Given the description of an element on the screen output the (x, y) to click on. 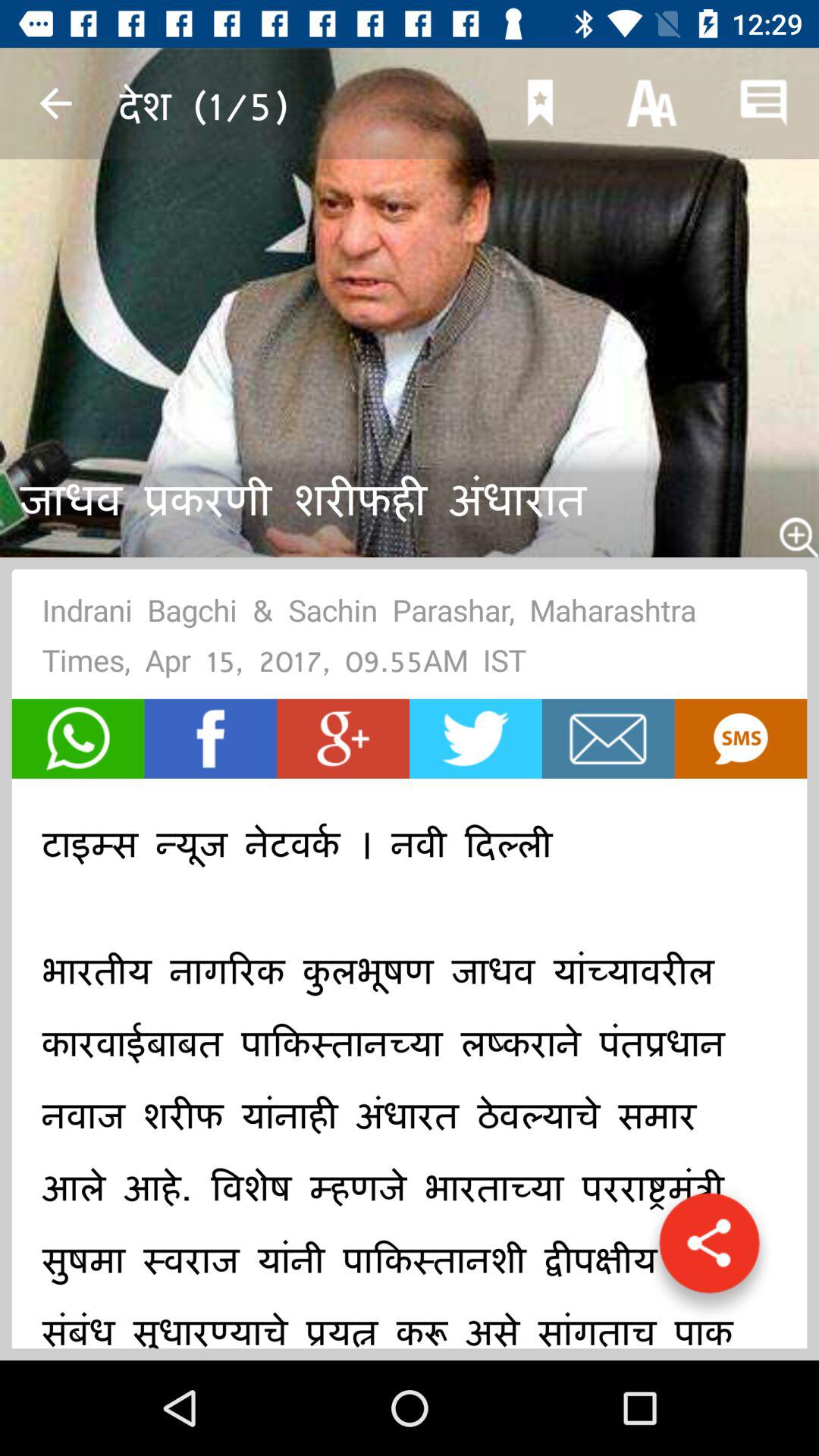
twitter share option (475, 738)
